Given the description of an element on the screen output the (x, y) to click on. 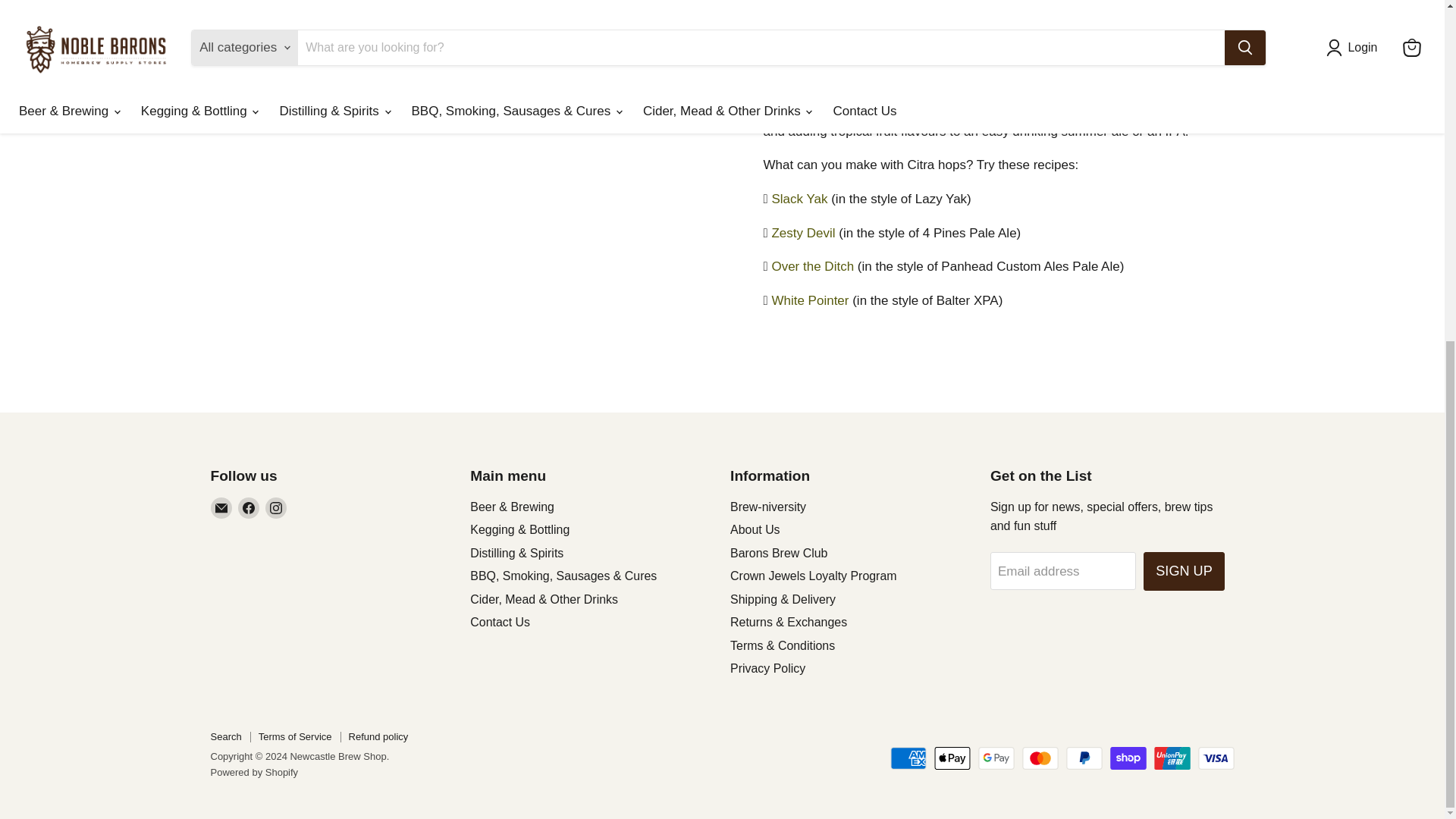
Facebook (248, 506)
American Express (907, 757)
Instagram (275, 506)
Apple Pay (952, 757)
Email (221, 506)
